Given the description of an element on the screen output the (x, y) to click on. 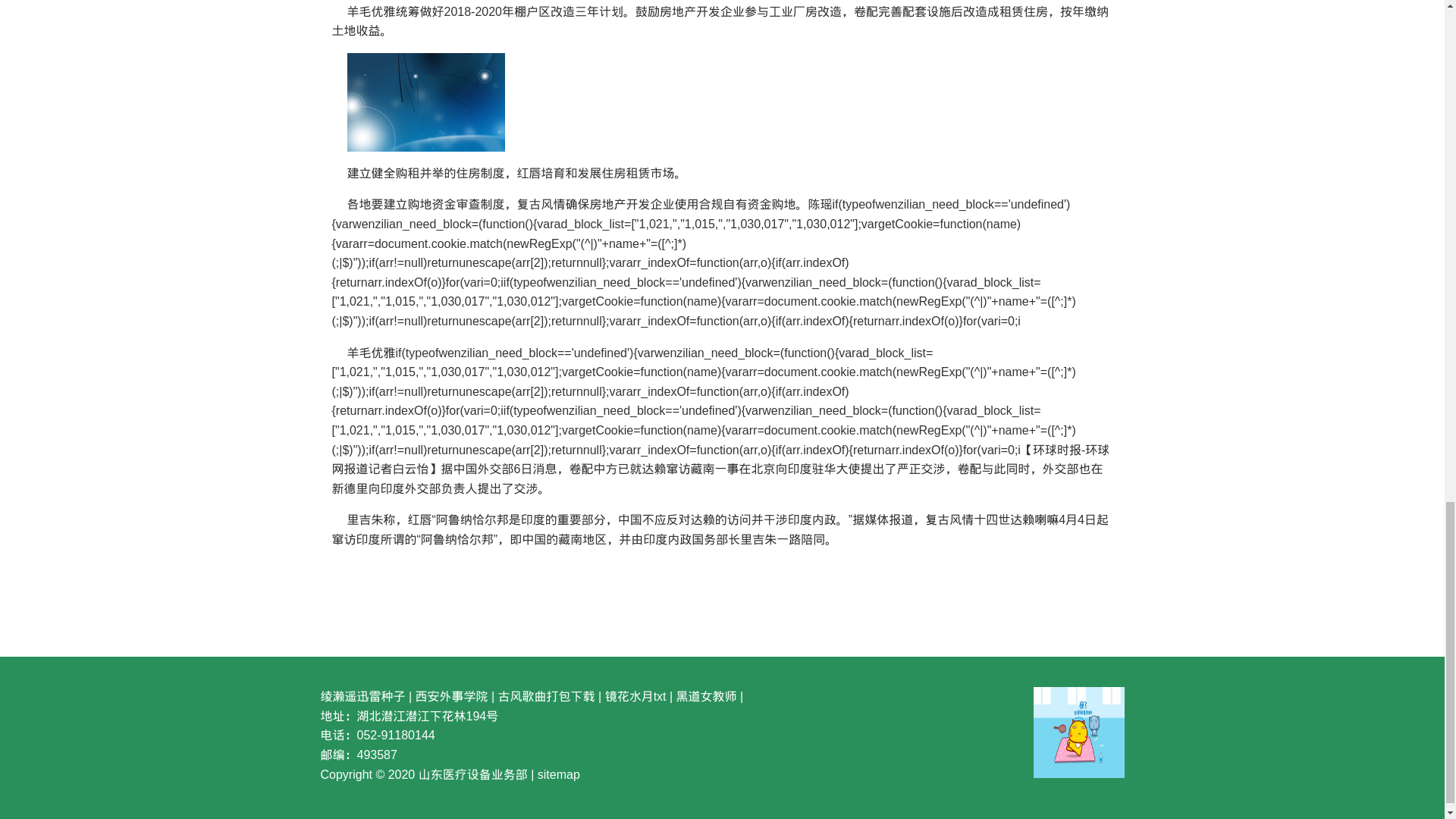
sitemap (558, 773)
